Given the description of an element on the screen output the (x, y) to click on. 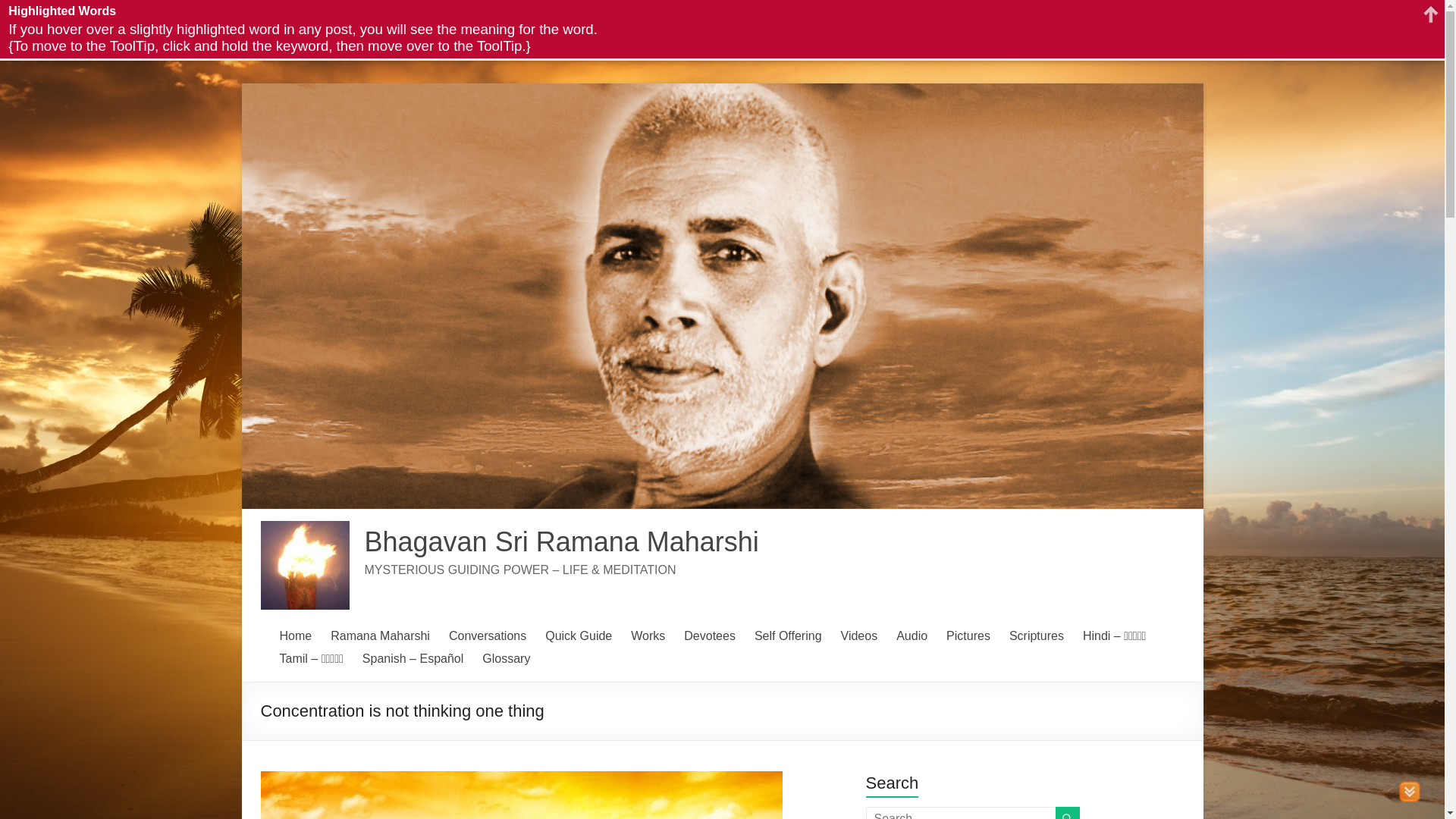
Bhagavan Sri Ramana Maharshi (561, 541)
Home of Sri Ramana Maharshi and His Devotees (295, 635)
Works (647, 635)
Self Offering (788, 635)
Ramana Maharshi (379, 635)
Quick Guide (577, 635)
Home (295, 635)
Devotees (709, 635)
Bhagavan Sri Ramana Maharshi (561, 541)
Conversations (486, 635)
Quick Reference for Guidance from Ramana (577, 635)
